Given the description of an element on the screen output the (x, y) to click on. 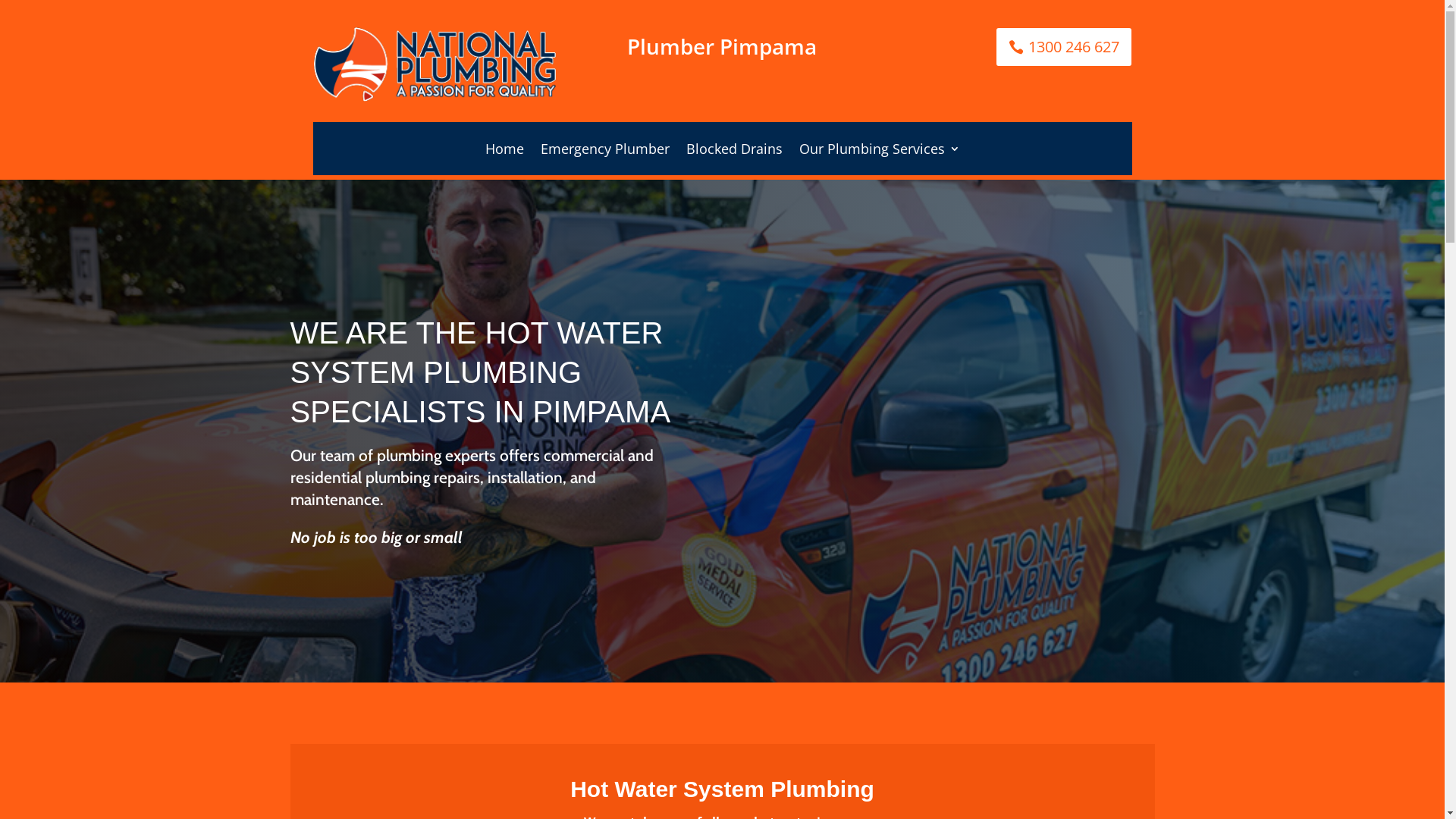
Home Element type: text (504, 151)
Emergency Plumber Element type: text (603, 151)
Blocked Drains Element type: text (733, 151)
Our Plumbing Services Element type: text (879, 151)
1300 246 627 Element type: text (1063, 46)
National Plumbing Pimpama Element type: hover (433, 64)
